Given the description of an element on the screen output the (x, y) to click on. 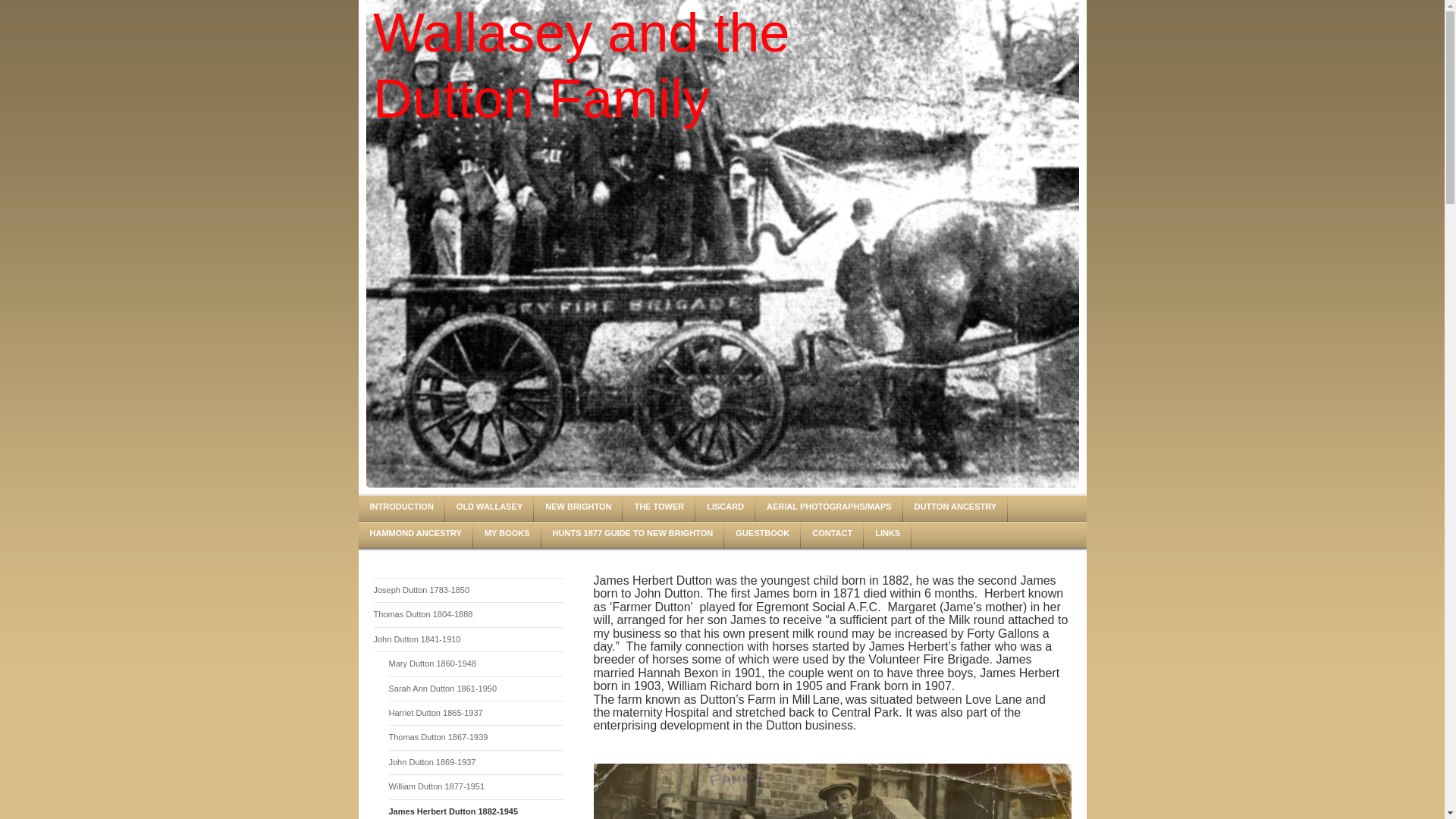
HAMMOND ANCESTRY (414, 534)
LISCARD (725, 508)
William Dutton 1877-1951 (475, 786)
Sarah Ann Dutton 1861-1950 (475, 688)
James Herbert Dutton 1882-1945 (475, 809)
THE TOWER (659, 508)
Wallasey and the Dutton Family (588, 65)
CONTACT (831, 534)
Thomas Dutton 1867-1939 (475, 737)
John Dutton 1841-1910 (467, 639)
Harriet Dutton 1865-1937 (475, 713)
Joseph Dutton 1783-1850 (467, 590)
Mary Dutton 1860-1948 (475, 663)
Thomas Dutton 1804-1888 (467, 614)
NEW BRIGHTON (578, 508)
